Given the description of an element on the screen output the (x, y) to click on. 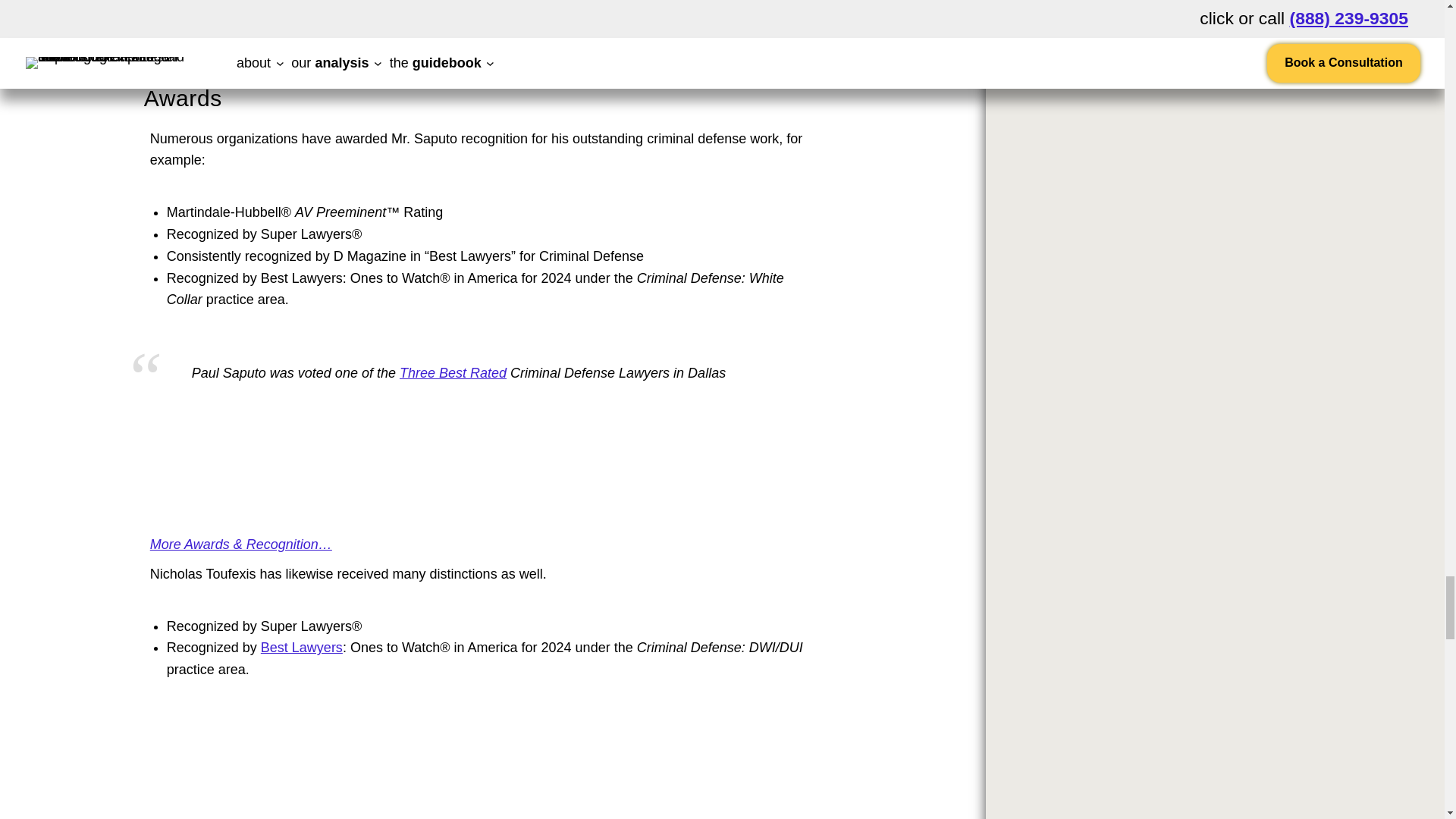
Martindale AV Rating. Click here for more Information. (202, 514)
Best Lawyers in the US. Click here for more Information. (301, 647)
Best Lawyers in the US. Click here for more Information. (202, 795)
